Given the description of an element on the screen output the (x, y) to click on. 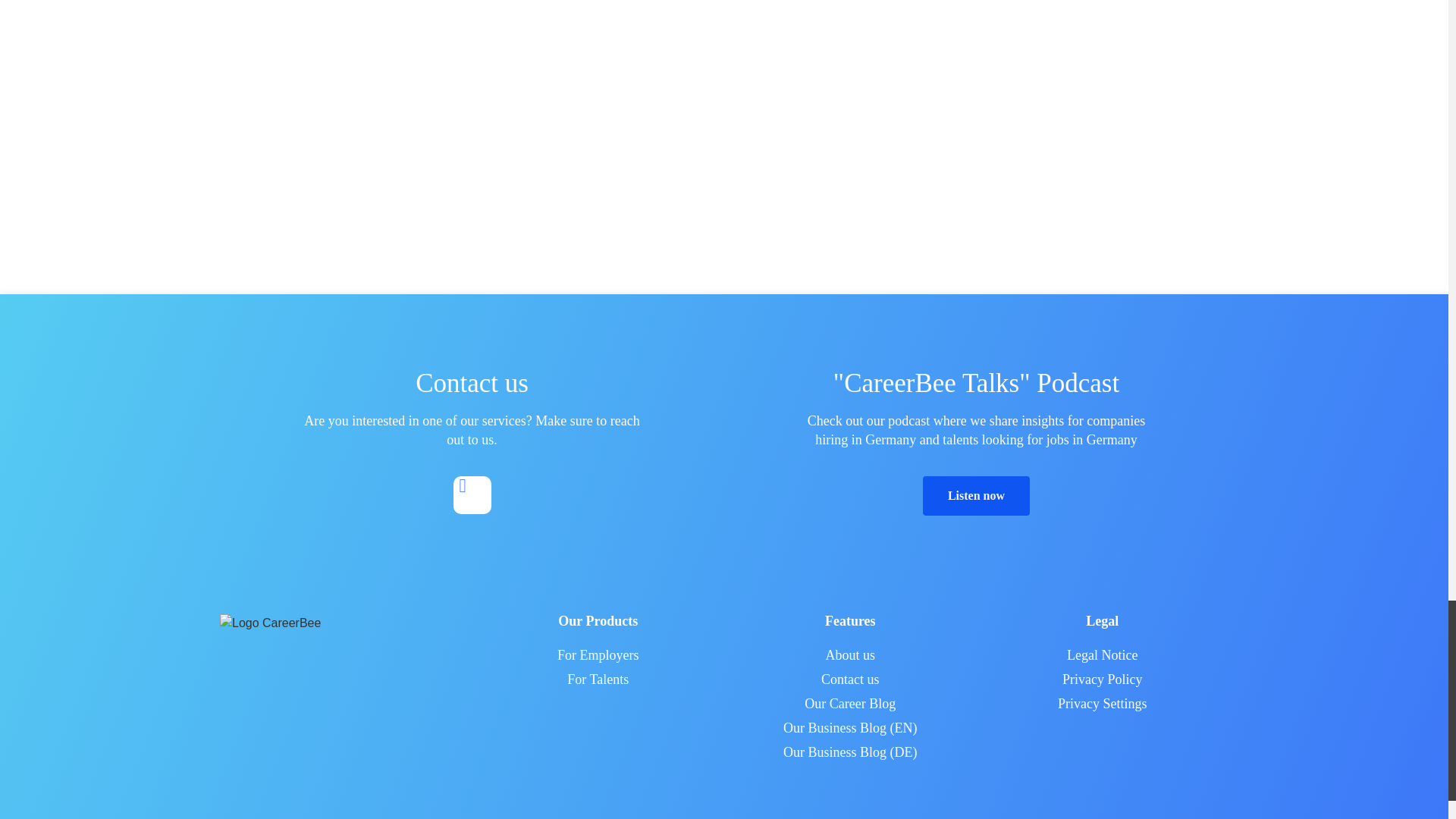
For Talents (597, 679)
Contact us (849, 679)
Listen now (976, 495)
About us (849, 654)
For Employers (597, 654)
Our Career Blog (849, 703)
